Given the description of an element on the screen output the (x, y) to click on. 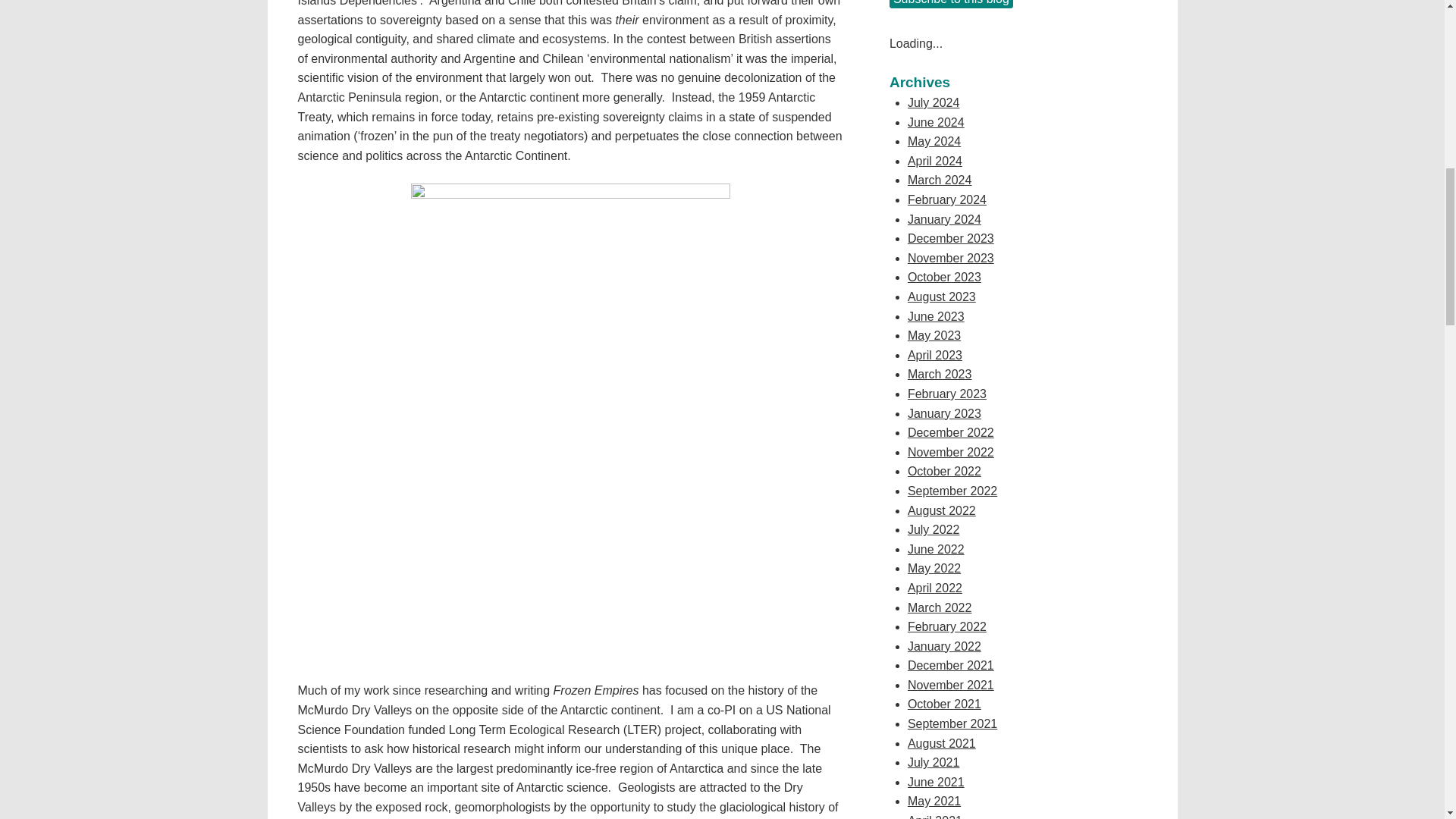
May 2024 (933, 141)
July 2024 (933, 102)
June 2024 (935, 122)
Subscribe to this blog (951, 4)
Subscribe to this blog (951, 4)
April 2024 (934, 160)
